Given the description of an element on the screen output the (x, y) to click on. 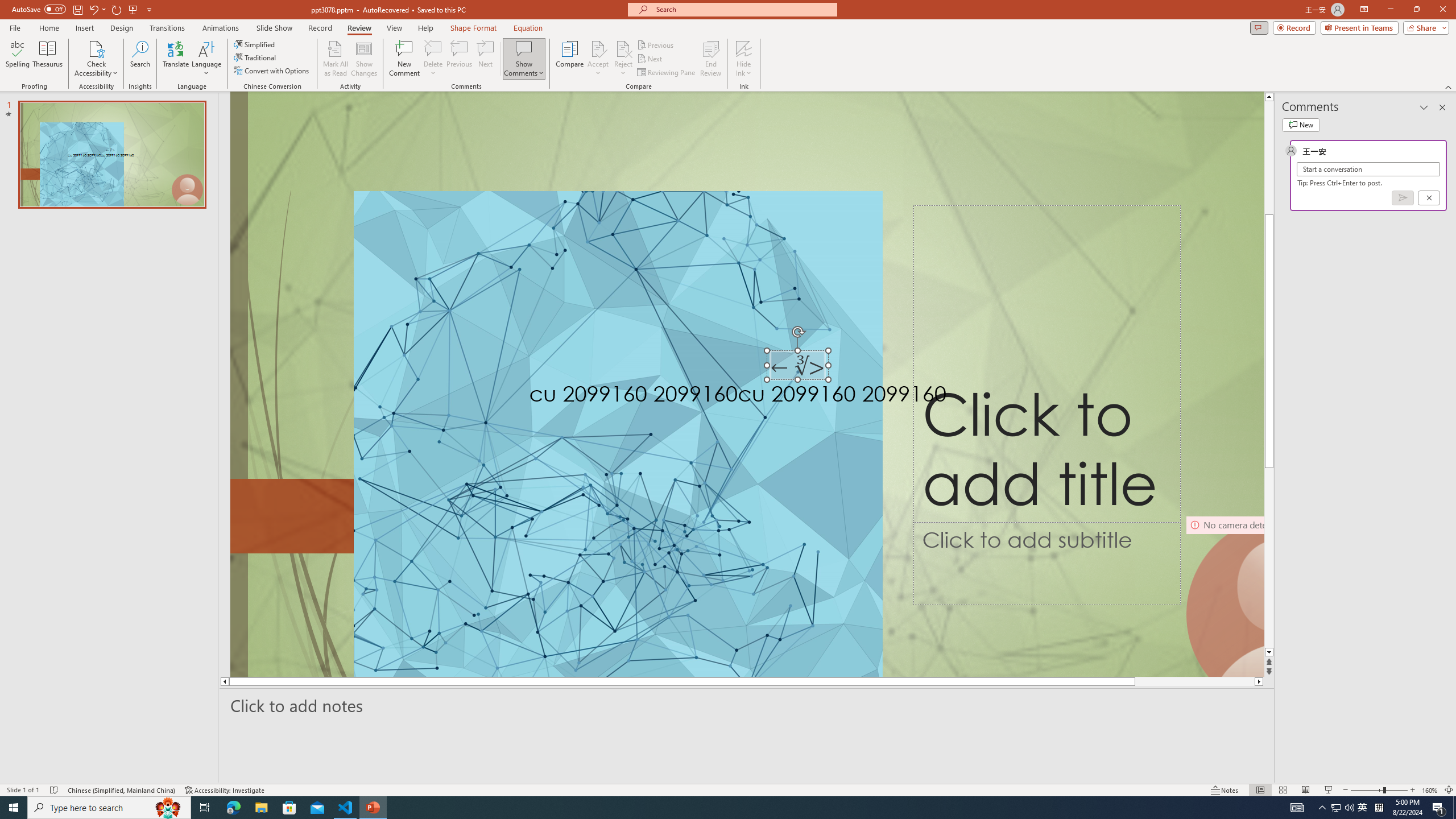
Zoom 160% (1430, 790)
Camera 9, No camera detected. (1224, 595)
End Review (710, 58)
